Given the description of an element on the screen output the (x, y) to click on. 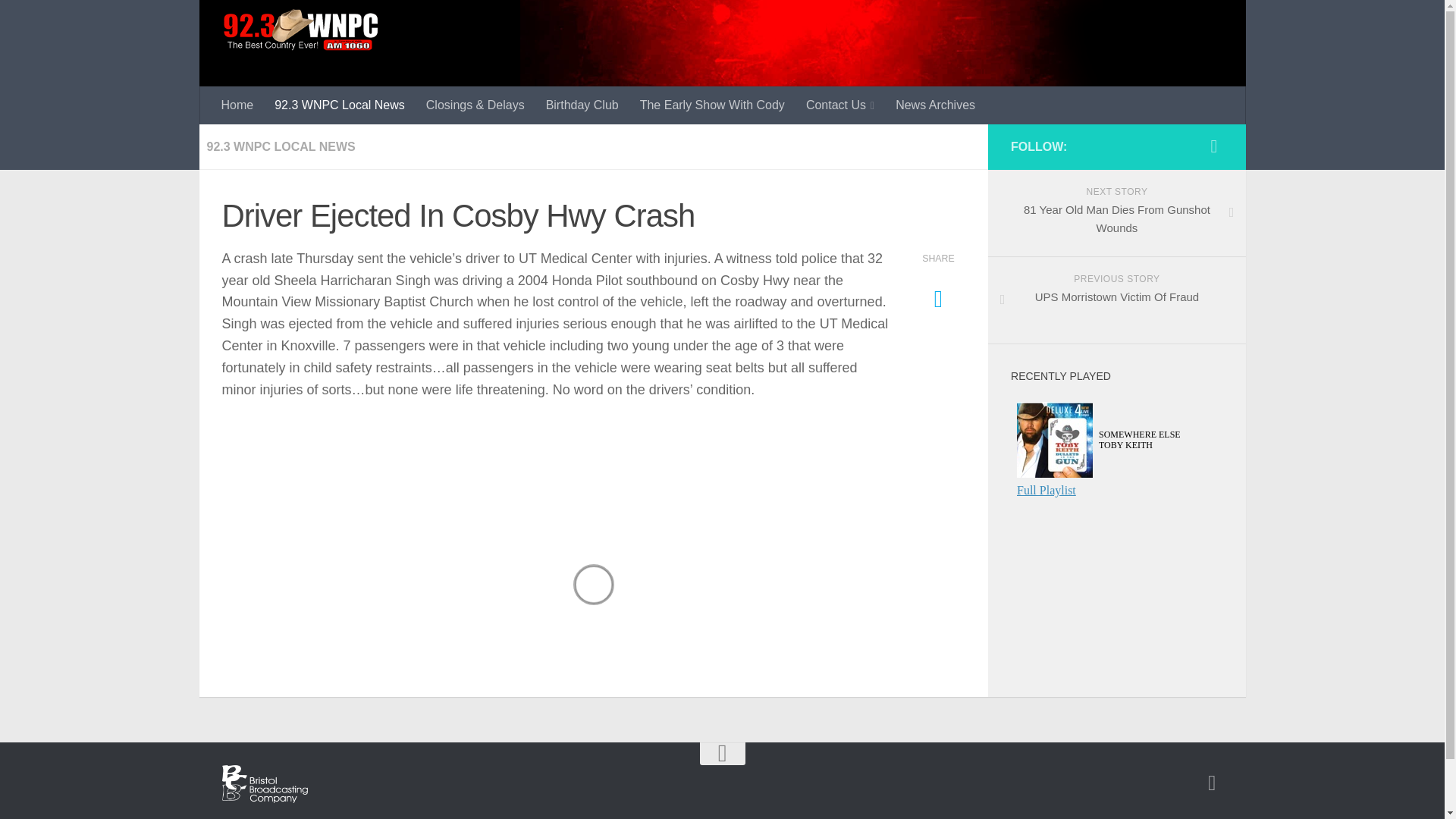
92.3 WNPC LOCAL NEWS (1115, 213)
Birthday Club (280, 146)
Home (581, 105)
Follow us on Facebook (237, 105)
News Archives (1212, 783)
The Early Show With Cody (1115, 300)
Follow us on Facebook (935, 105)
92.3 WNPC Local News (711, 105)
Contact Us (1213, 146)
